Given the description of an element on the screen output the (x, y) to click on. 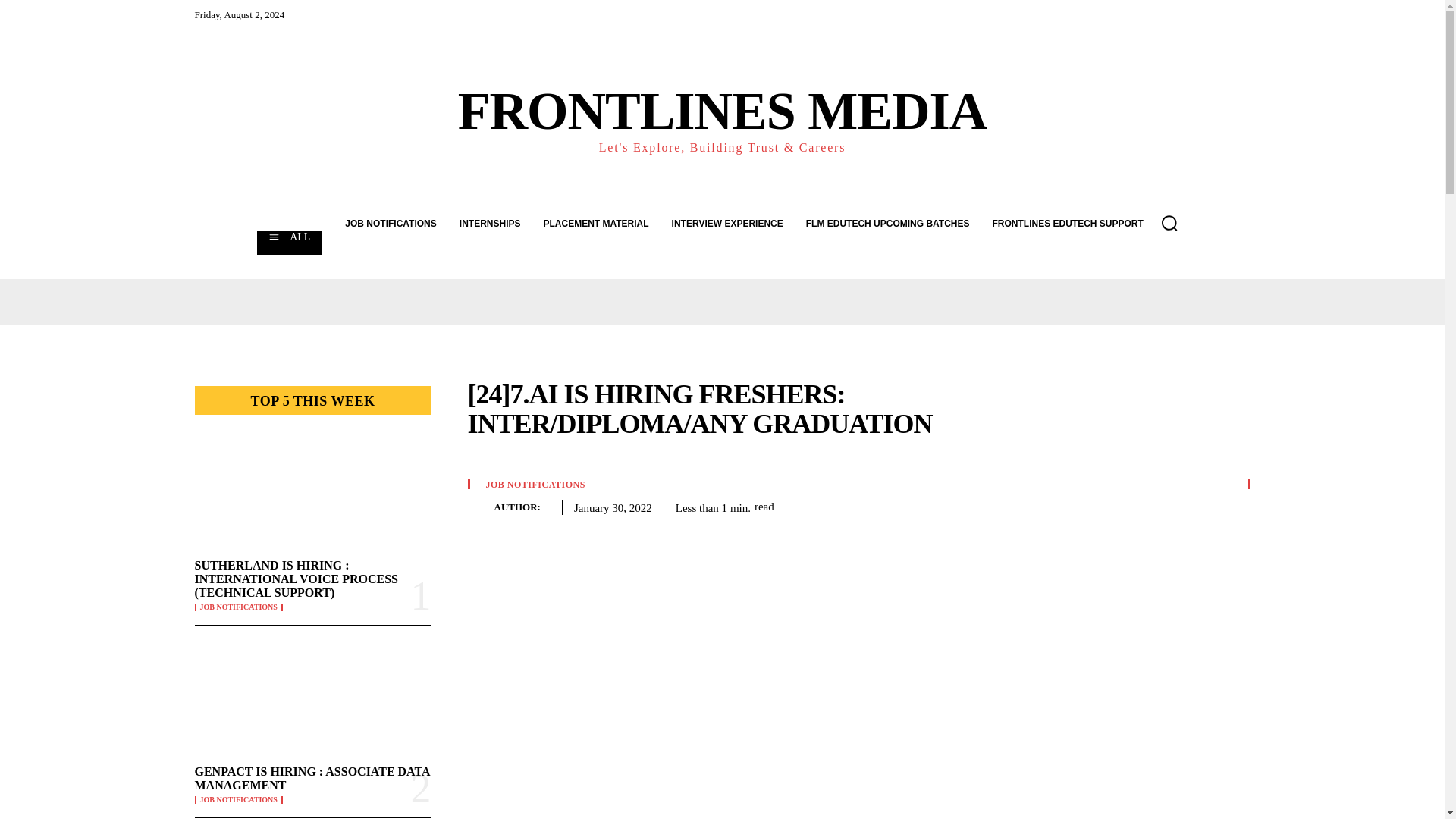
ALL (289, 242)
All (289, 242)
